Given the description of an element on the screen output the (x, y) to click on. 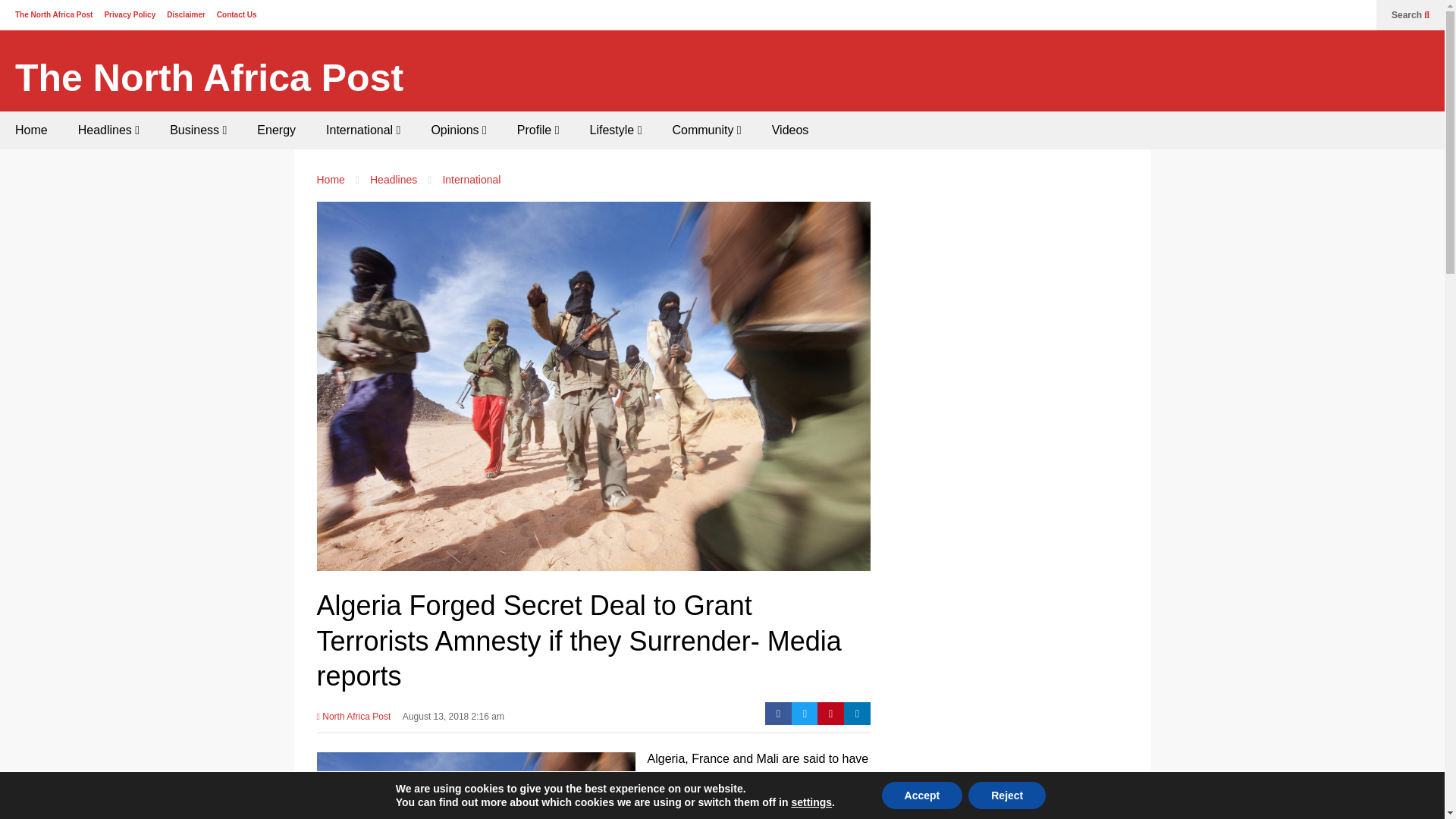
Lifestyle (616, 130)
The North Africa Post (208, 78)
Profile (538, 130)
Home (31, 130)
Disclaimer (186, 14)
Videos (790, 130)
International (362, 130)
The North Africa Post (53, 14)
Headlines (108, 130)
Energy (276, 130)
Search (1410, 15)
Linkedin (857, 712)
Community (705, 130)
The North Africa Post (208, 78)
Privacy Policy (129, 14)
